Given the description of an element on the screen output the (x, y) to click on. 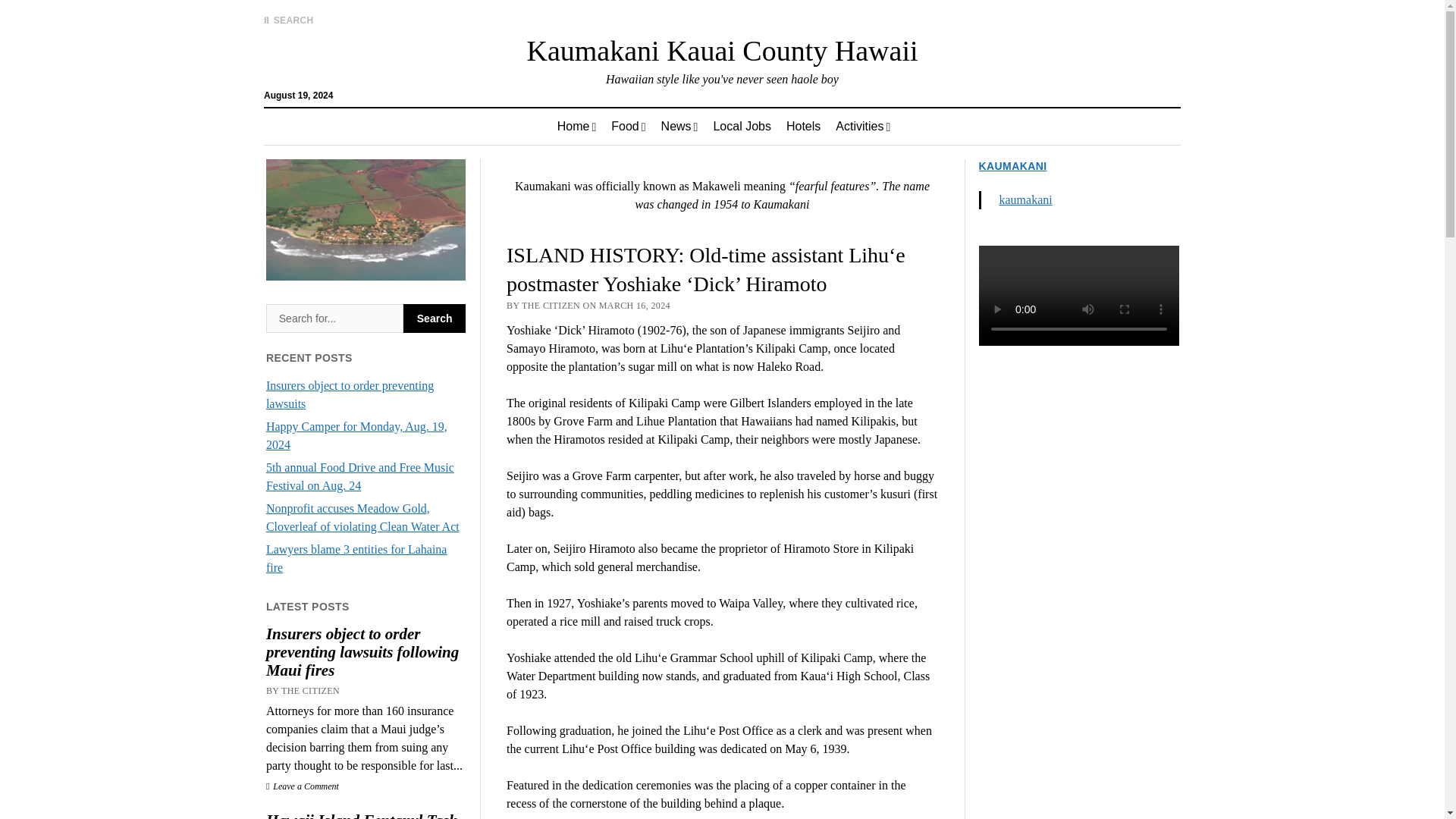
5th annual Food Drive and Free Music Festival on Aug. 24 (360, 476)
Insurers object to order preventing lawsuits (349, 394)
Activities (863, 126)
Home (576, 126)
Search (334, 317)
Food (627, 126)
Kaumakani Kauai County Hawaii (721, 50)
Search (434, 317)
News (679, 126)
Hotels (803, 126)
